Given the description of an element on the screen output the (x, y) to click on. 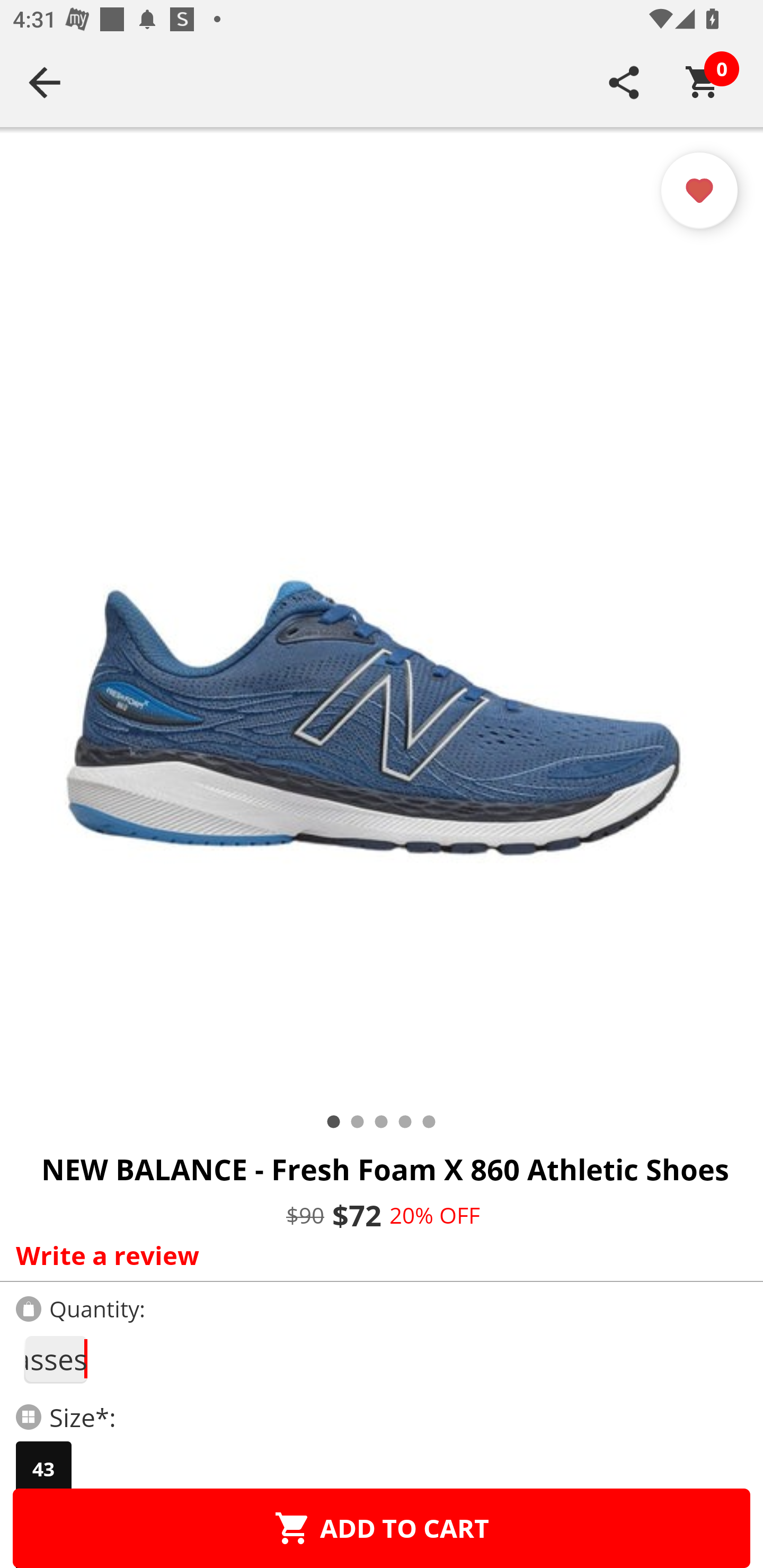
Navigate up (44, 82)
SHARE (623, 82)
Cart (703, 81)
Write a review (377, 1255)
1sunglasses (55, 1358)
43 (43, 1468)
ADD TO CART (381, 1528)
